Given the description of an element on the screen output the (x, y) to click on. 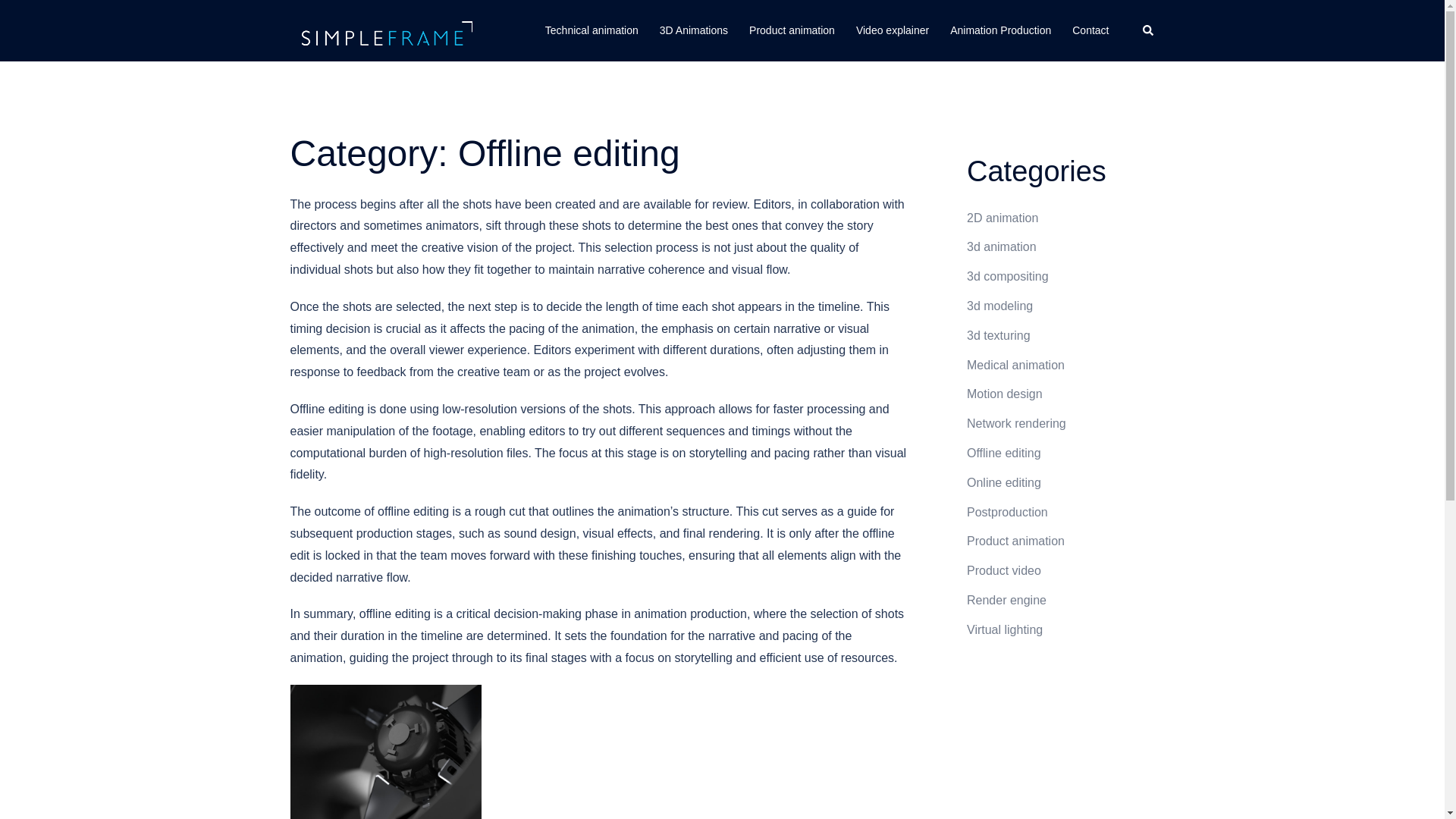
Video explainer (892, 30)
Render engine (1006, 599)
Technical animation (591, 30)
Search (1147, 30)
3D Animations (693, 30)
Product video (1003, 570)
Simple Frame (384, 29)
Postproduction (1007, 512)
Online editing (1003, 481)
3d compositing (1007, 276)
3d animation (1001, 246)
2D animation (1002, 217)
Product animation (791, 30)
Product animation (1015, 540)
Network rendering (1015, 422)
